Given the description of an element on the screen output the (x, y) to click on. 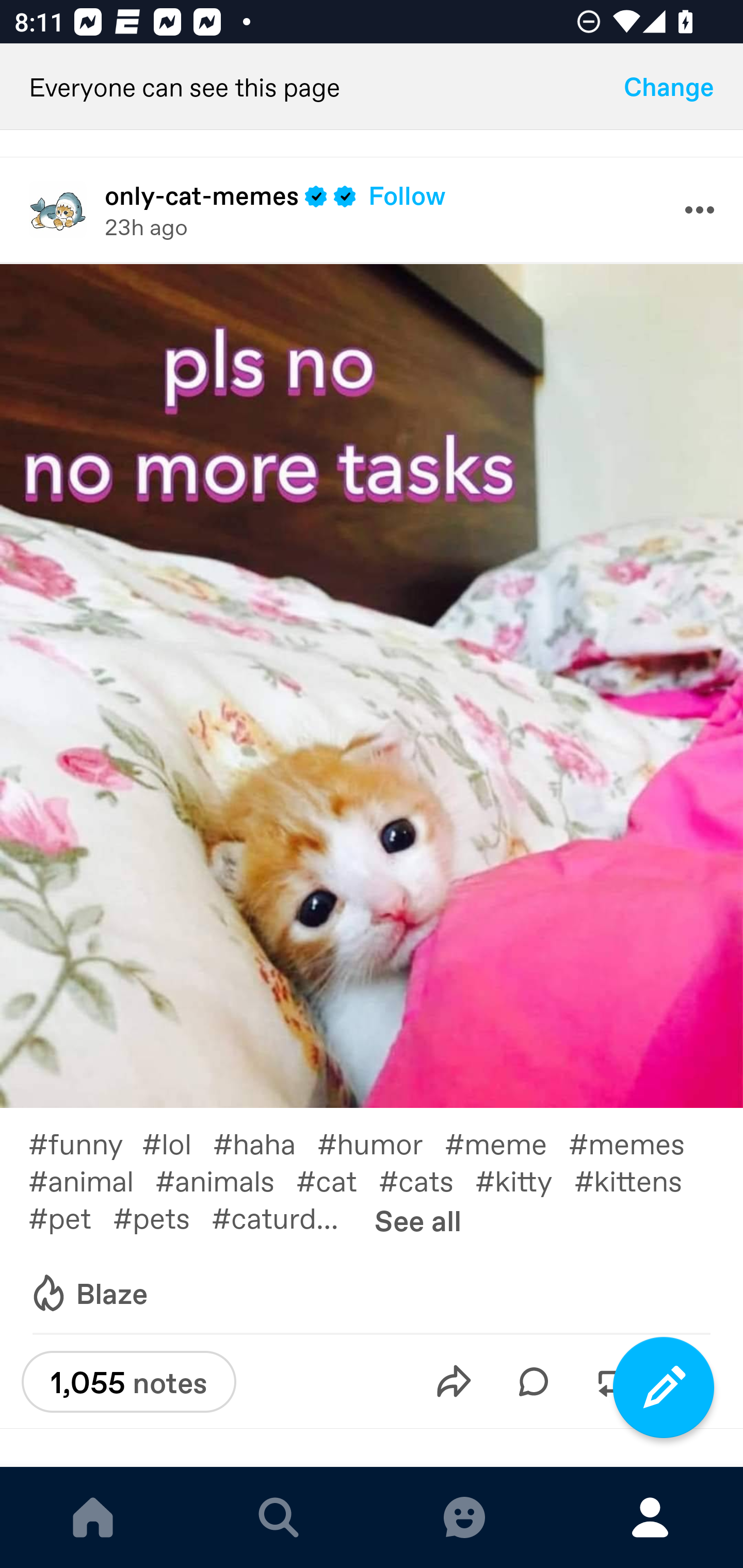
Change (669, 86)
Follow (406, 194)
#funny (84, 1142)
#lol (177, 1142)
#haha (265, 1142)
#humor (381, 1142)
#meme (506, 1142)
#memes (637, 1142)
#animal (91, 1179)
#animals (225, 1179)
#cat (337, 1179)
#cats (426, 1179)
#kitty (524, 1179)
#kittens (638, 1179)
#pet (70, 1216)
#pets (161, 1216)
#caturd… (285, 1216)
See all (417, 1219)
Blaze Blaze Blaze (88, 1293)
Share post to message (454, 1381)
Reply (533, 1381)
Compose a new post (663, 1387)
1,055 notes (128, 1381)
DASHBOARD (92, 1517)
EXPLORE (278, 1517)
MESSAGES (464, 1517)
ACCOUNT (650, 1517)
